Given the description of an element on the screen output the (x, y) to click on. 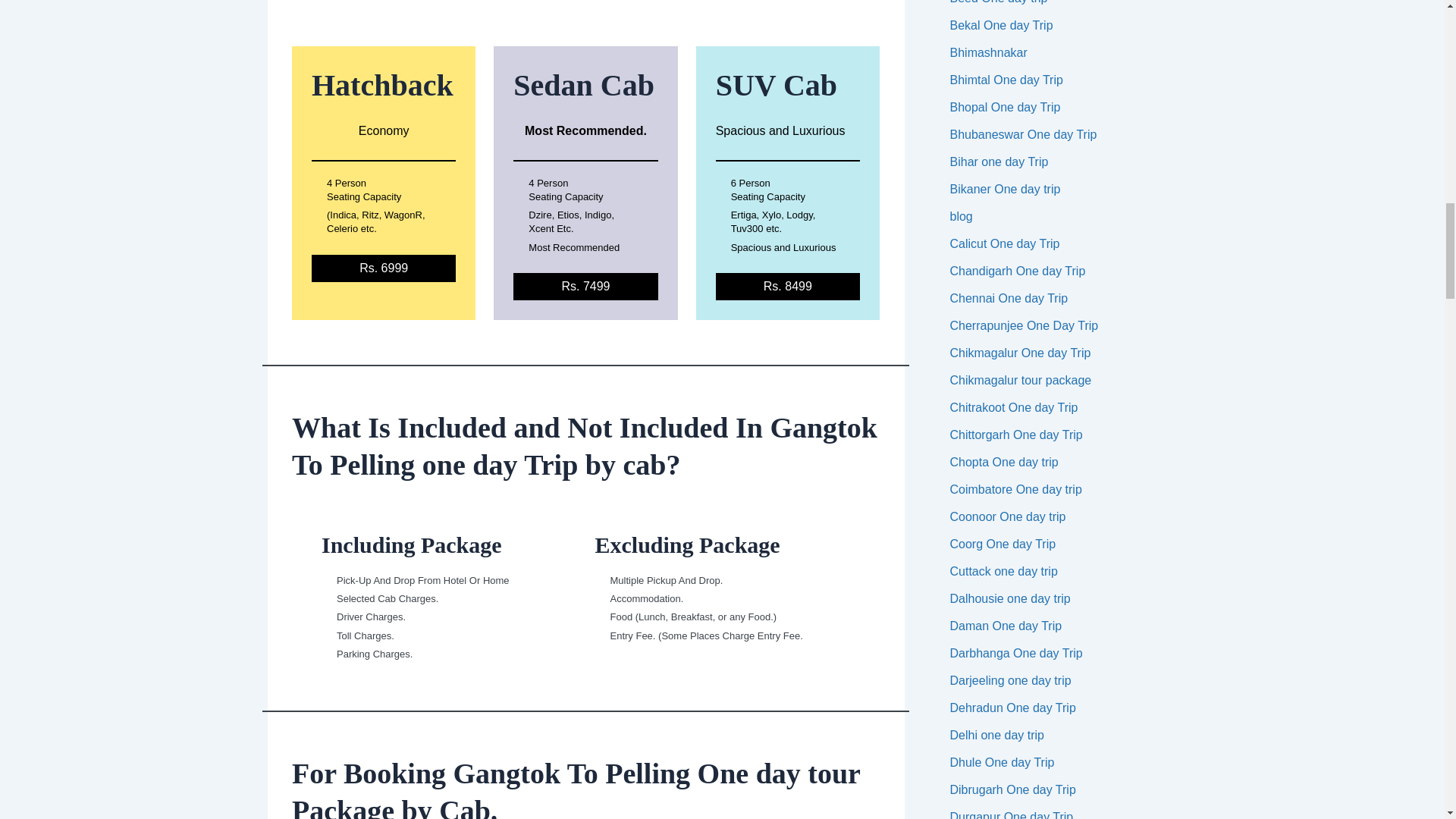
Rs. 8499 (788, 286)
Rs. 6999 (383, 267)
Rs. 7499 (585, 286)
